Given the description of an element on the screen output the (x, y) to click on. 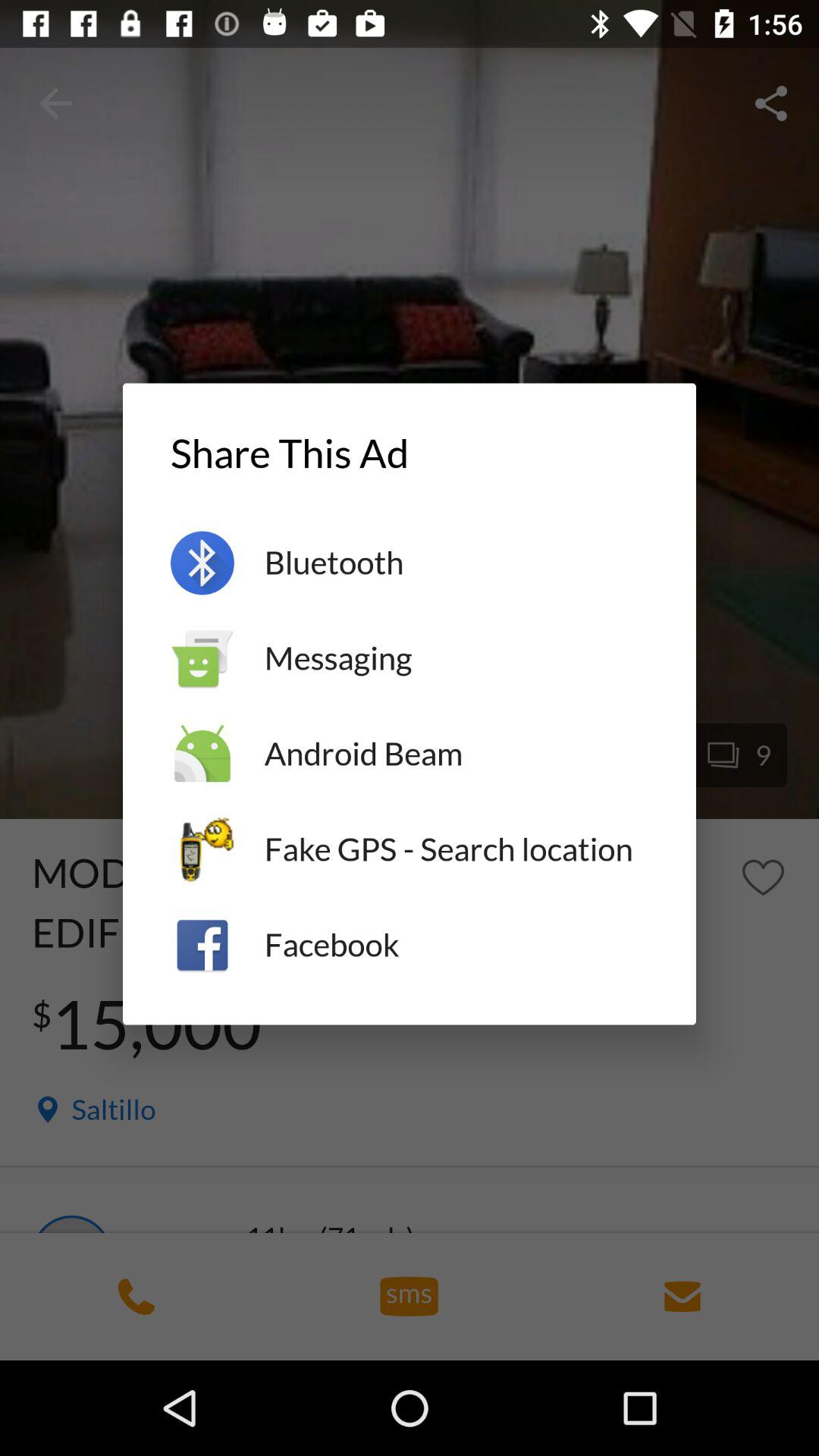
turn on messaging item (456, 658)
